Given the description of an element on the screen output the (x, y) to click on. 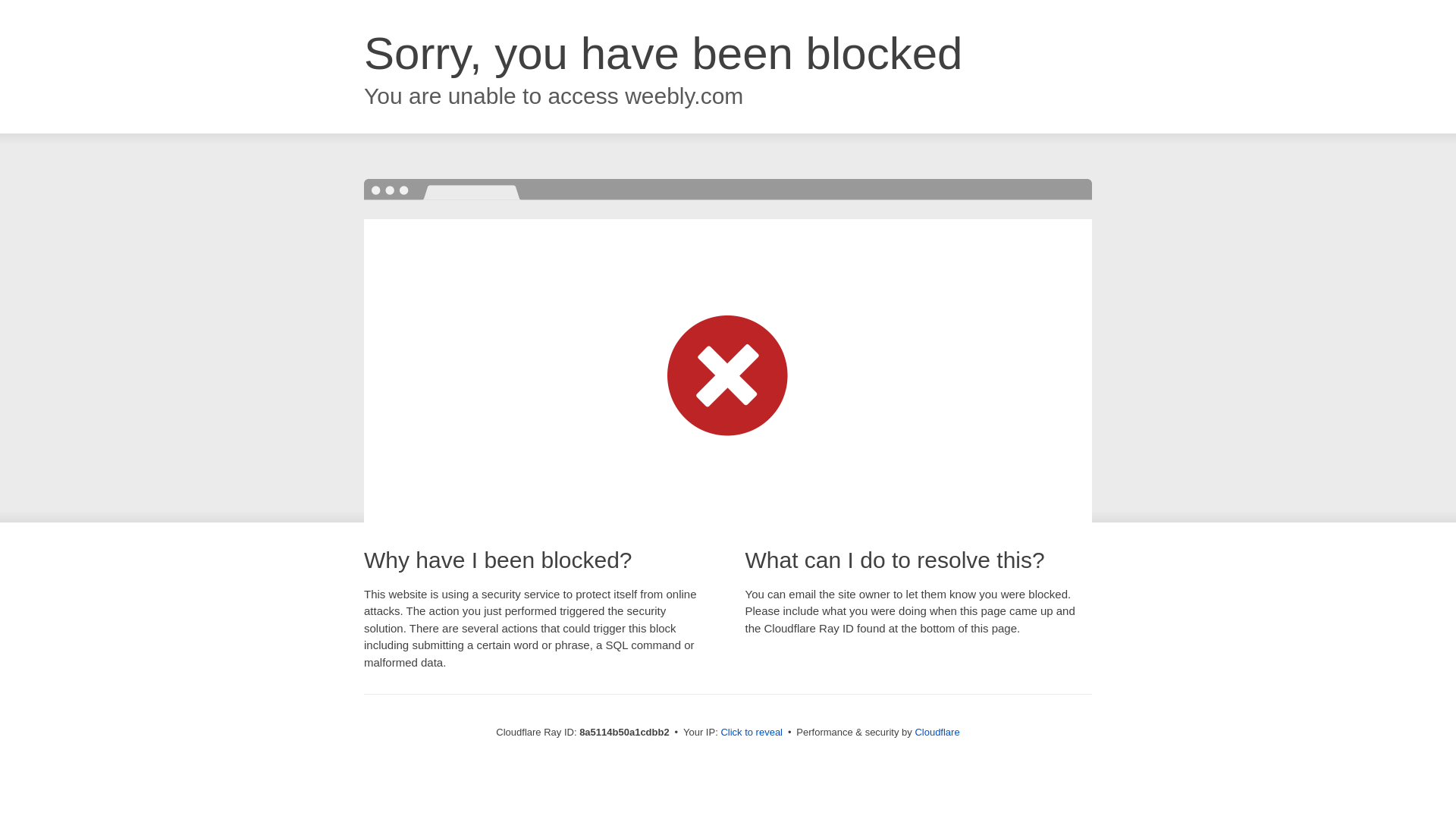
Cloudflare (936, 731)
Click to reveal (751, 732)
